Given the description of an element on the screen output the (x, y) to click on. 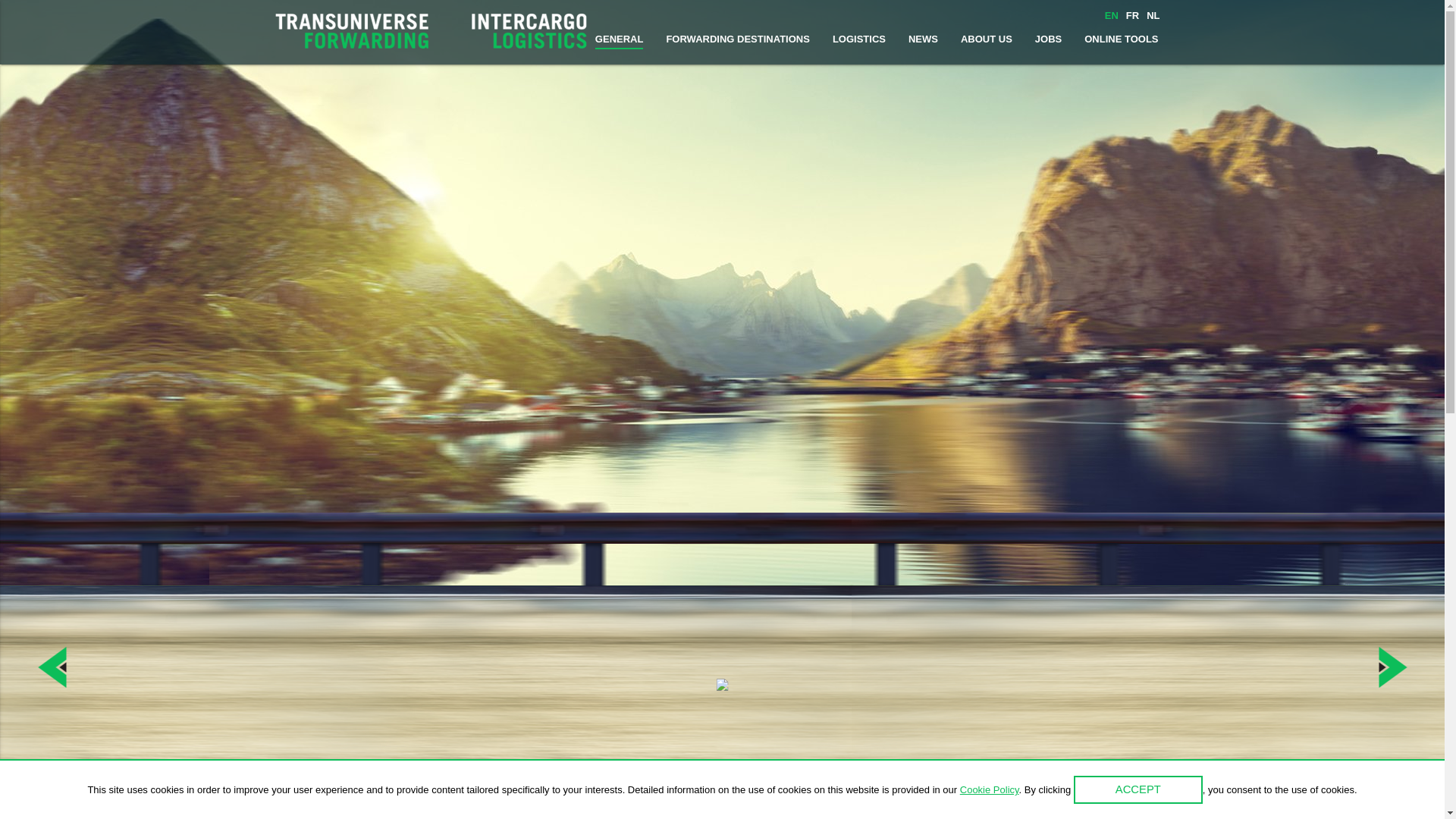
NL Element type: text (1152, 15)
FORWARDING DESTINATIONS Element type: text (737, 39)
FR Element type: text (1132, 15)
LOGISTICS Element type: text (858, 39)
GENERAL Element type: text (619, 39)
ONLINE TOOLS Element type: text (1120, 39)
ABOUT US Element type: text (986, 39)
EN Element type: text (1111, 15)
NEWS Element type: text (923, 39)
Cookie Policy Element type: text (989, 789)
JOBS Element type: text (1048, 39)
